Given the description of an element on the screen output the (x, y) to click on. 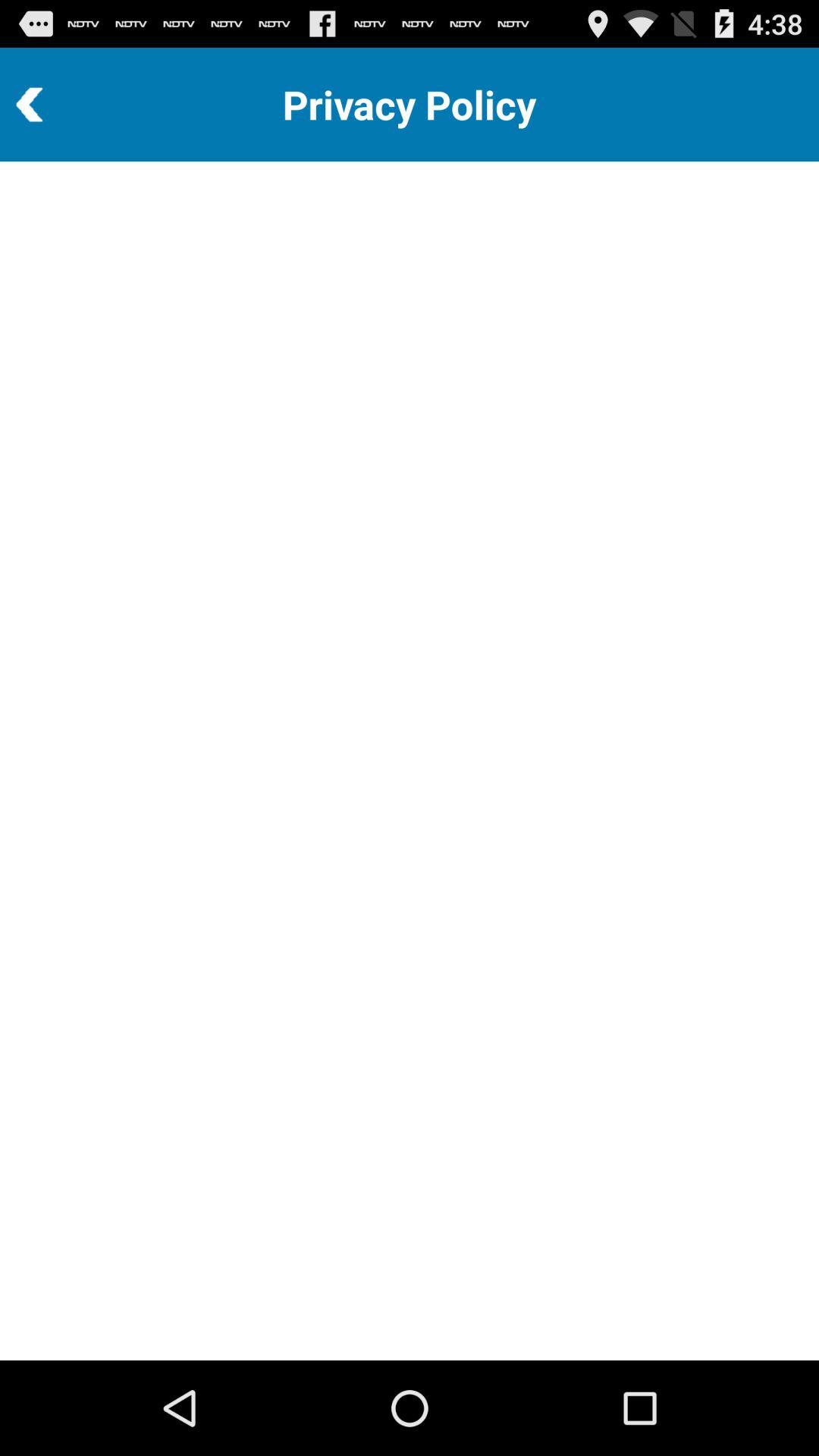
return to previous page (70, 104)
